Given the description of an element on the screen output the (x, y) to click on. 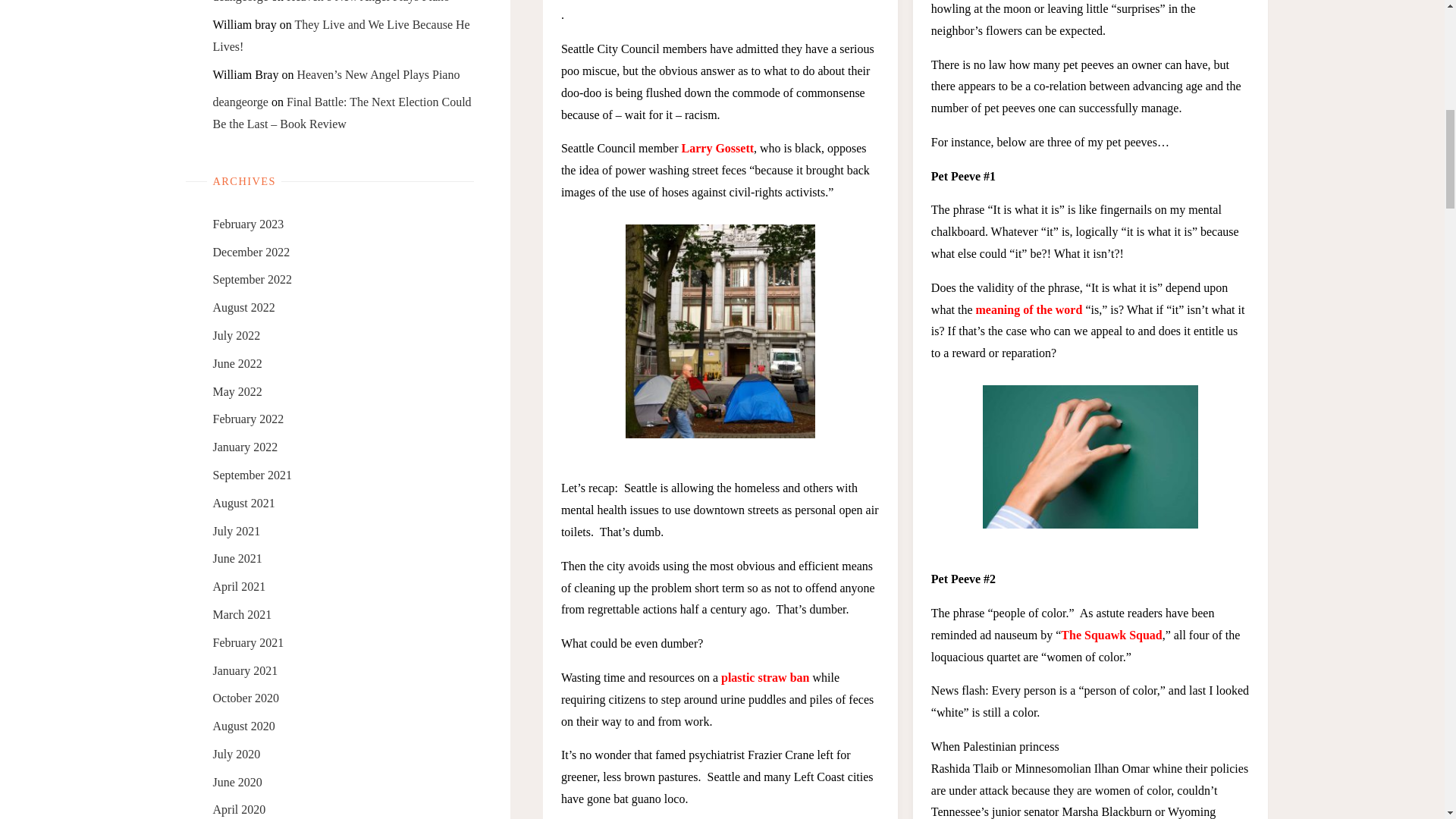
June 2022 (237, 363)
June 2021 (237, 558)
April 2021 (238, 585)
March 2021 (241, 614)
February 2023 (247, 223)
January 2021 (245, 670)
September 2021 (251, 474)
deangeorge (239, 101)
August 2021 (243, 502)
July 2020 (236, 753)
